Given the description of an element on the screen output the (x, y) to click on. 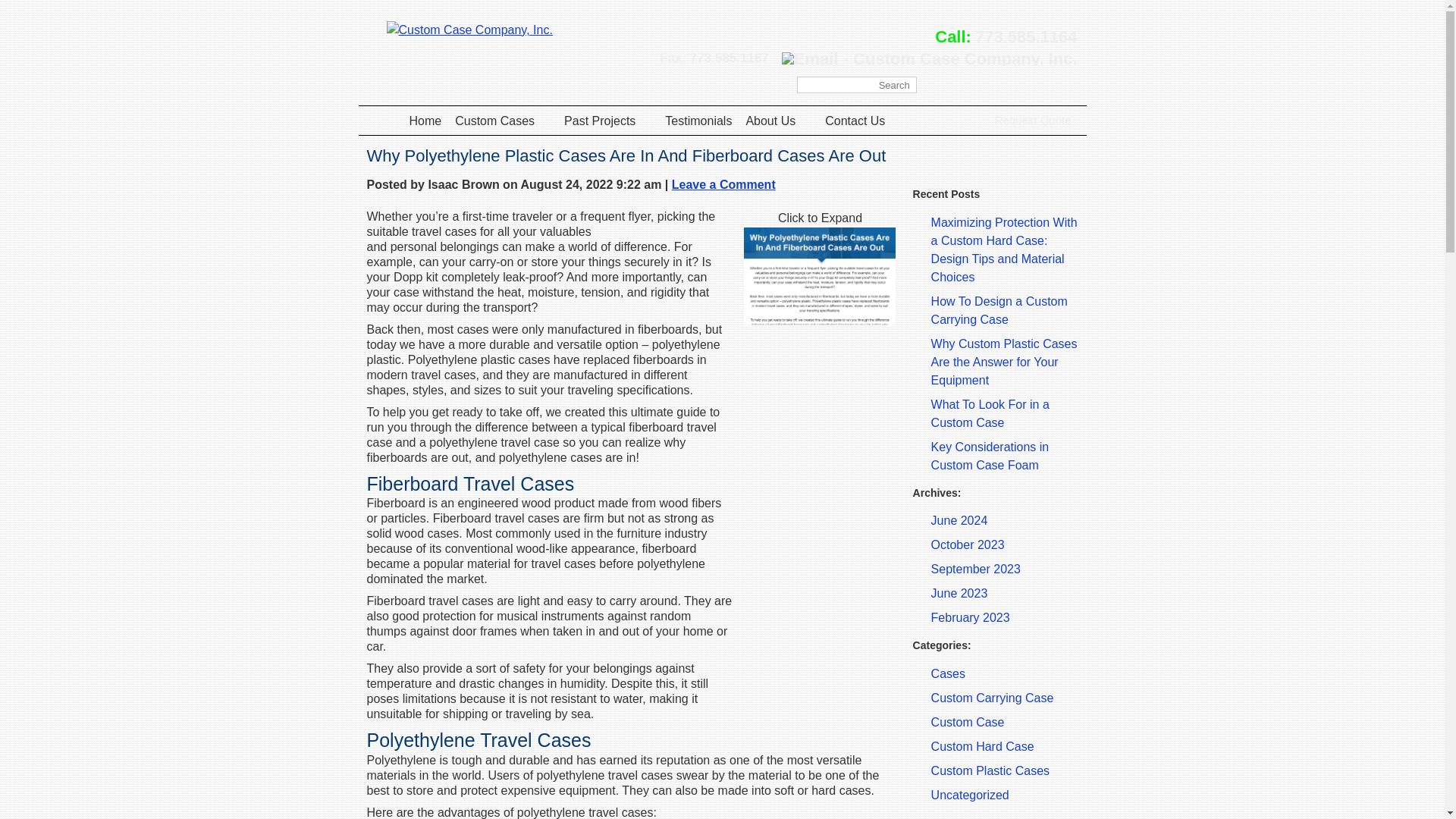
Home (425, 121)
Email - Custom Case Company, Inc. (929, 59)
Search (928, 85)
Searchh (856, 84)
Custom Case Company, Inc. (470, 30)
773.585.1164 (1026, 37)
Custom Cases (502, 121)
